Given the description of an element on the screen output the (x, y) to click on. 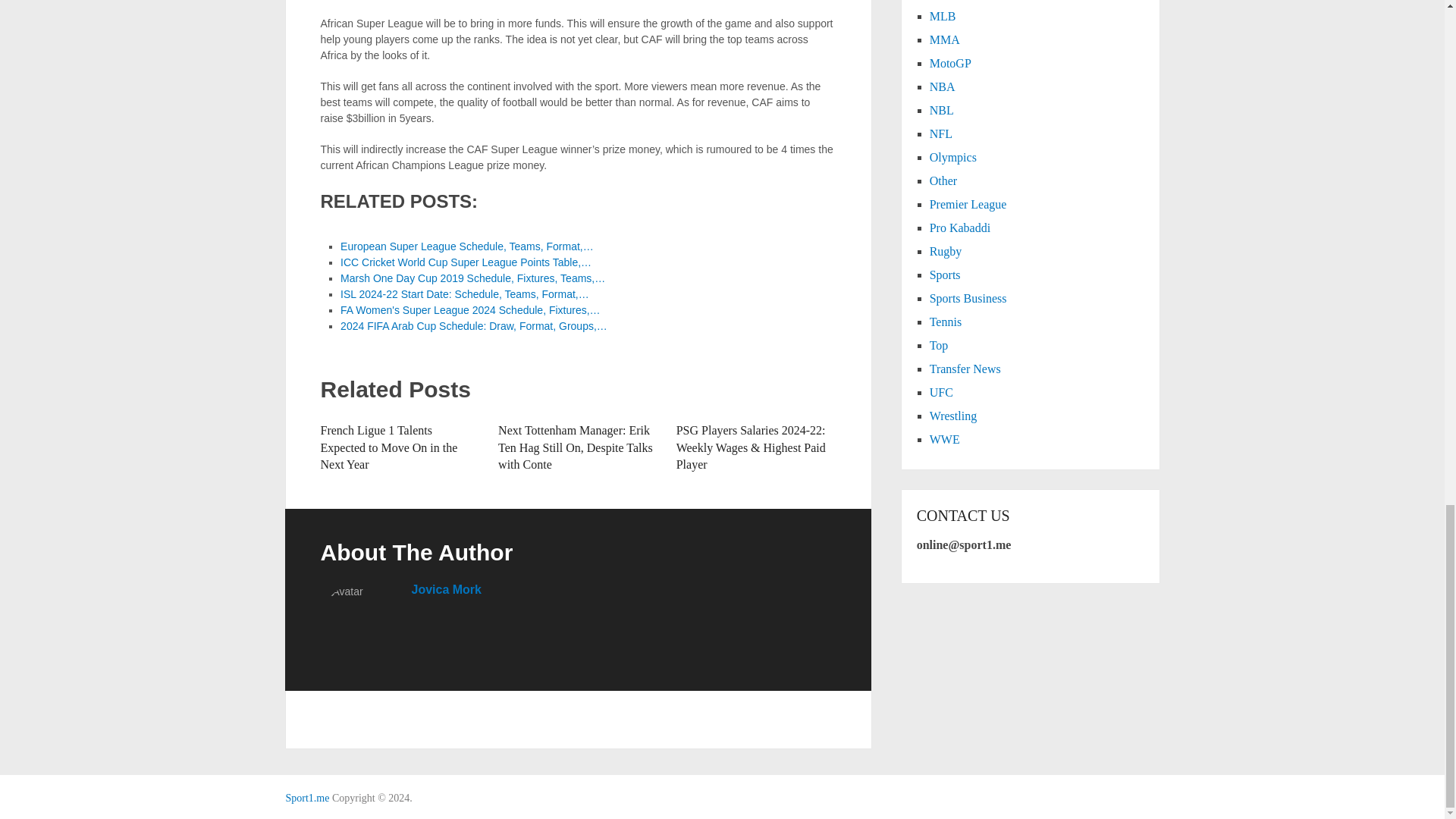
Jovica Mork (445, 589)
 Insightful Sports Analysis (307, 797)
French Ligue 1 Talents Expected to Move On in the Next Year (388, 447)
French Ligue 1 Talents Expected to Move On in the Next Year (388, 447)
